Given the description of an element on the screen output the (x, y) to click on. 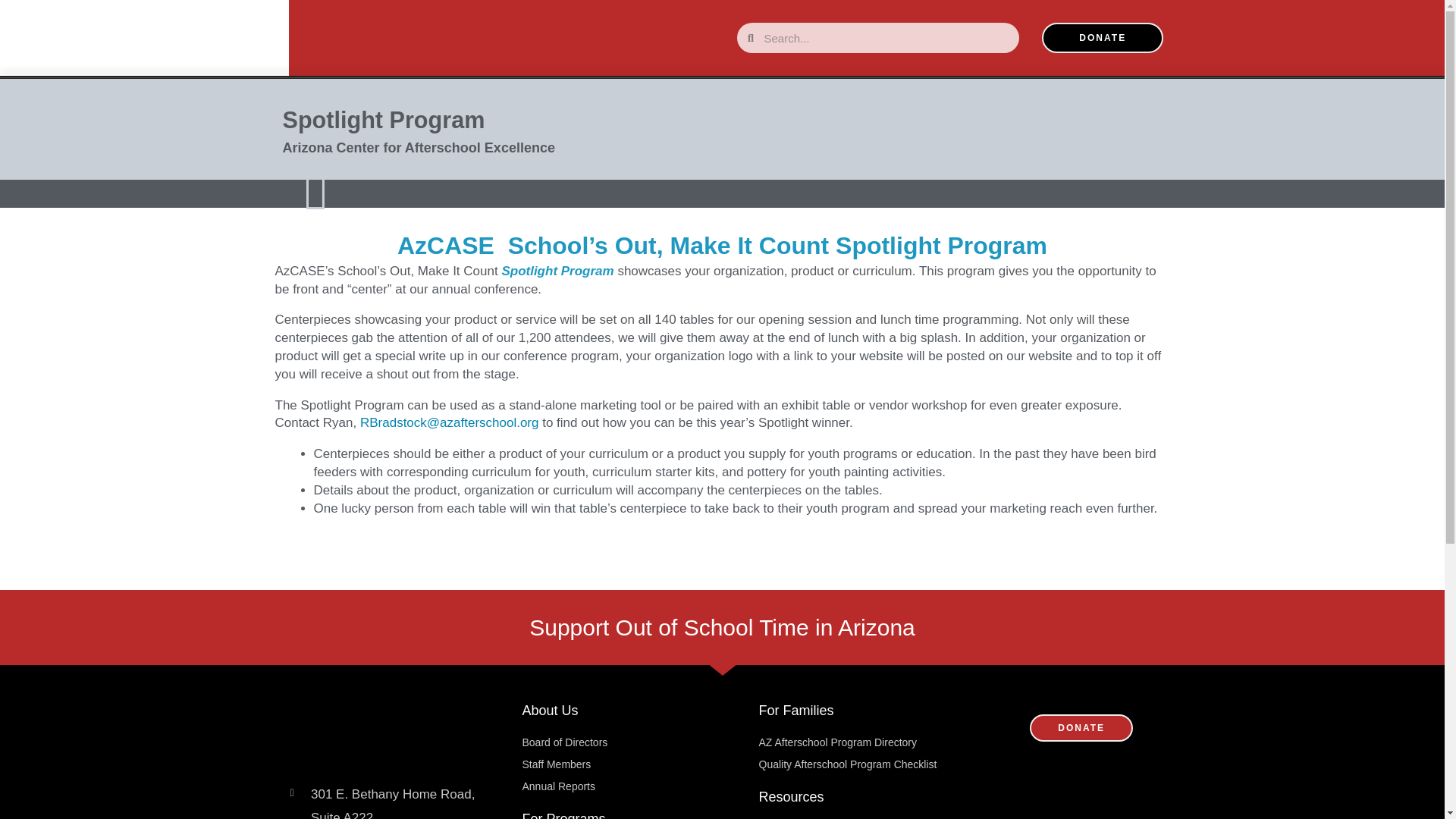
DONATE (1102, 37)
